Given the description of an element on the screen output the (x, y) to click on. 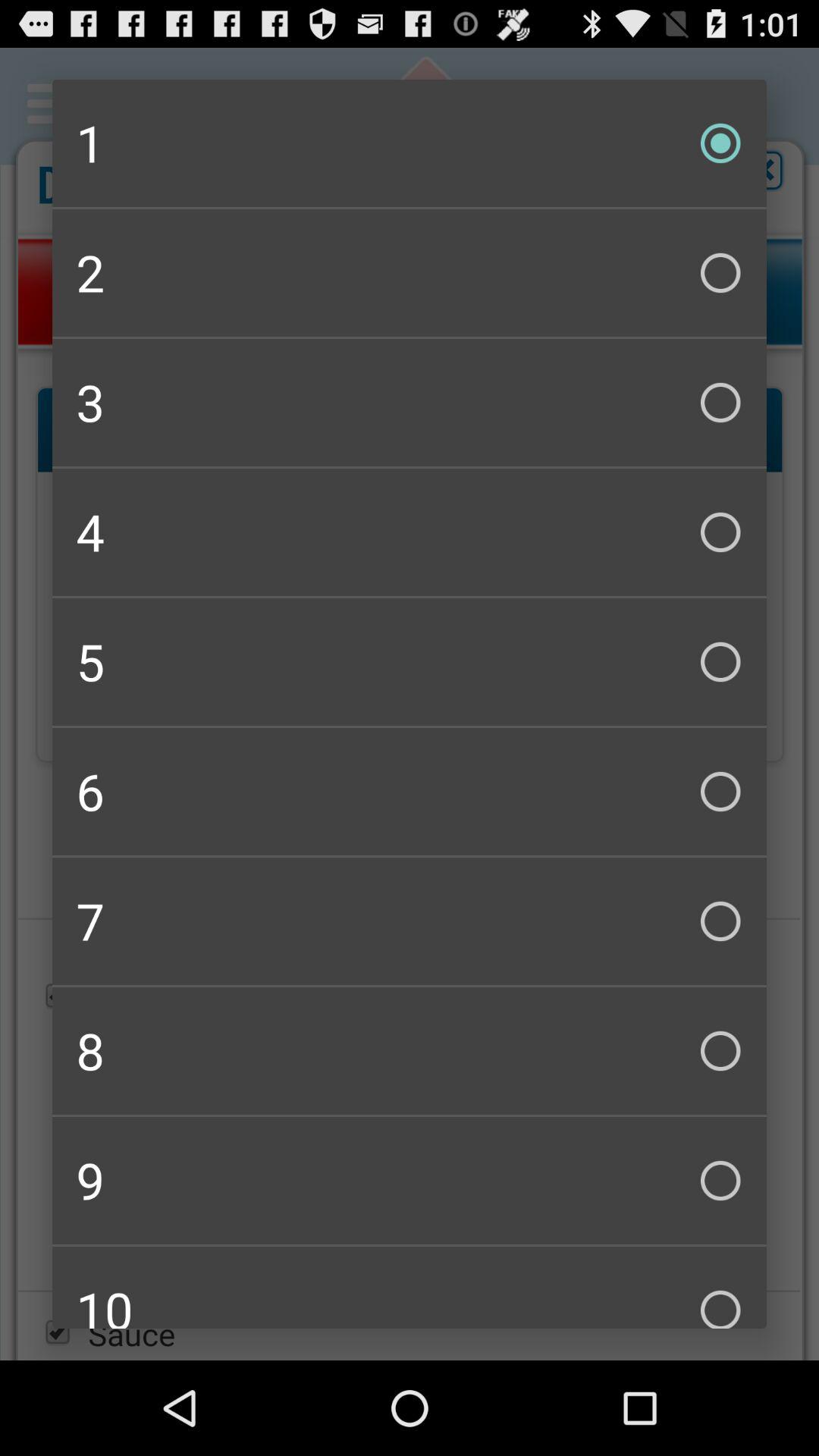
turn off the 2 item (409, 272)
